Given the description of an element on the screen output the (x, y) to click on. 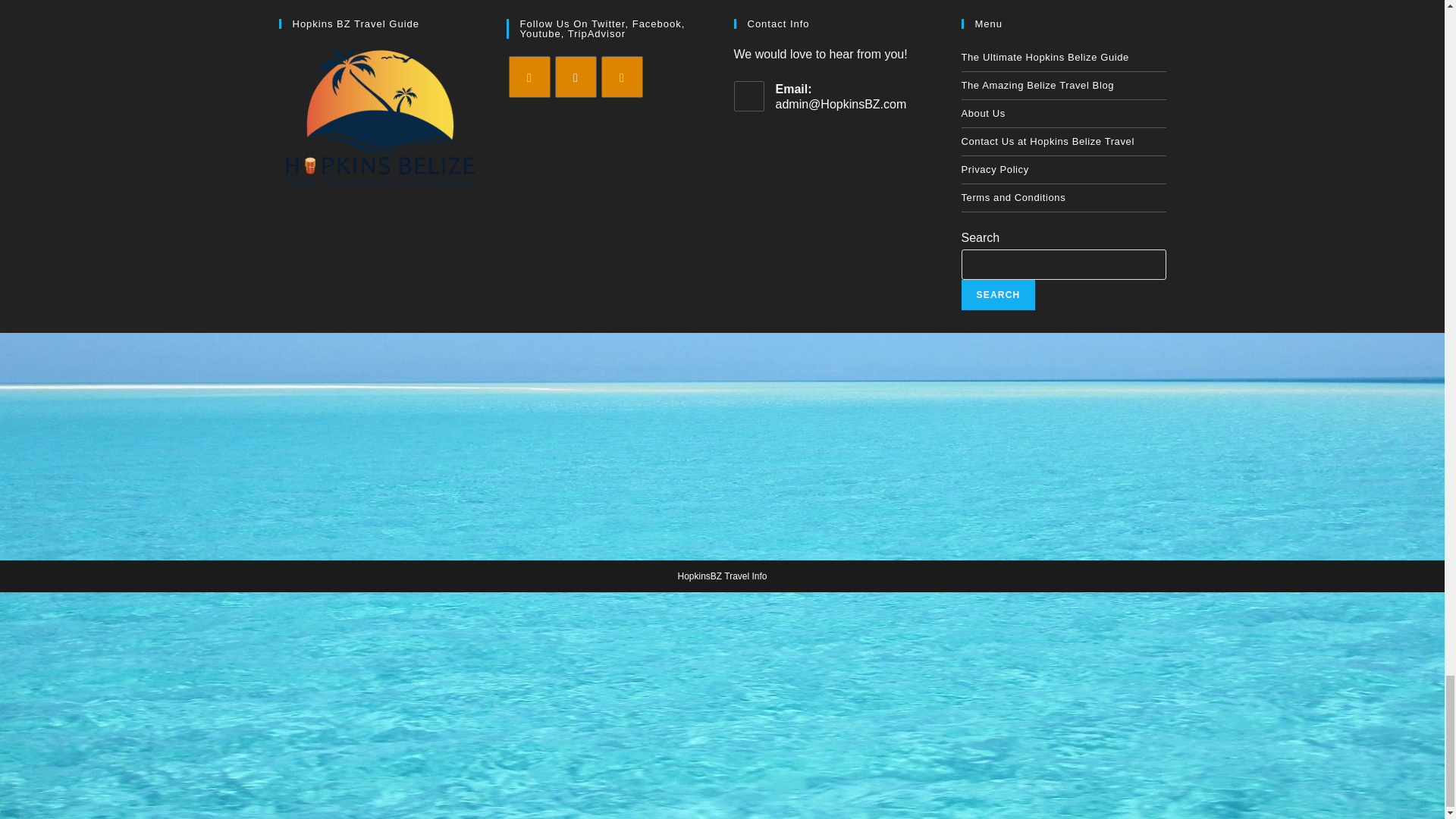
The Amazing Belize Travel Blog (1063, 85)
Contact Us at Hopkins Belize Travel (1063, 141)
About Us (1063, 113)
The Ultimate Hopkins Belize Guide (1063, 57)
